Given the description of an element on the screen output the (x, y) to click on. 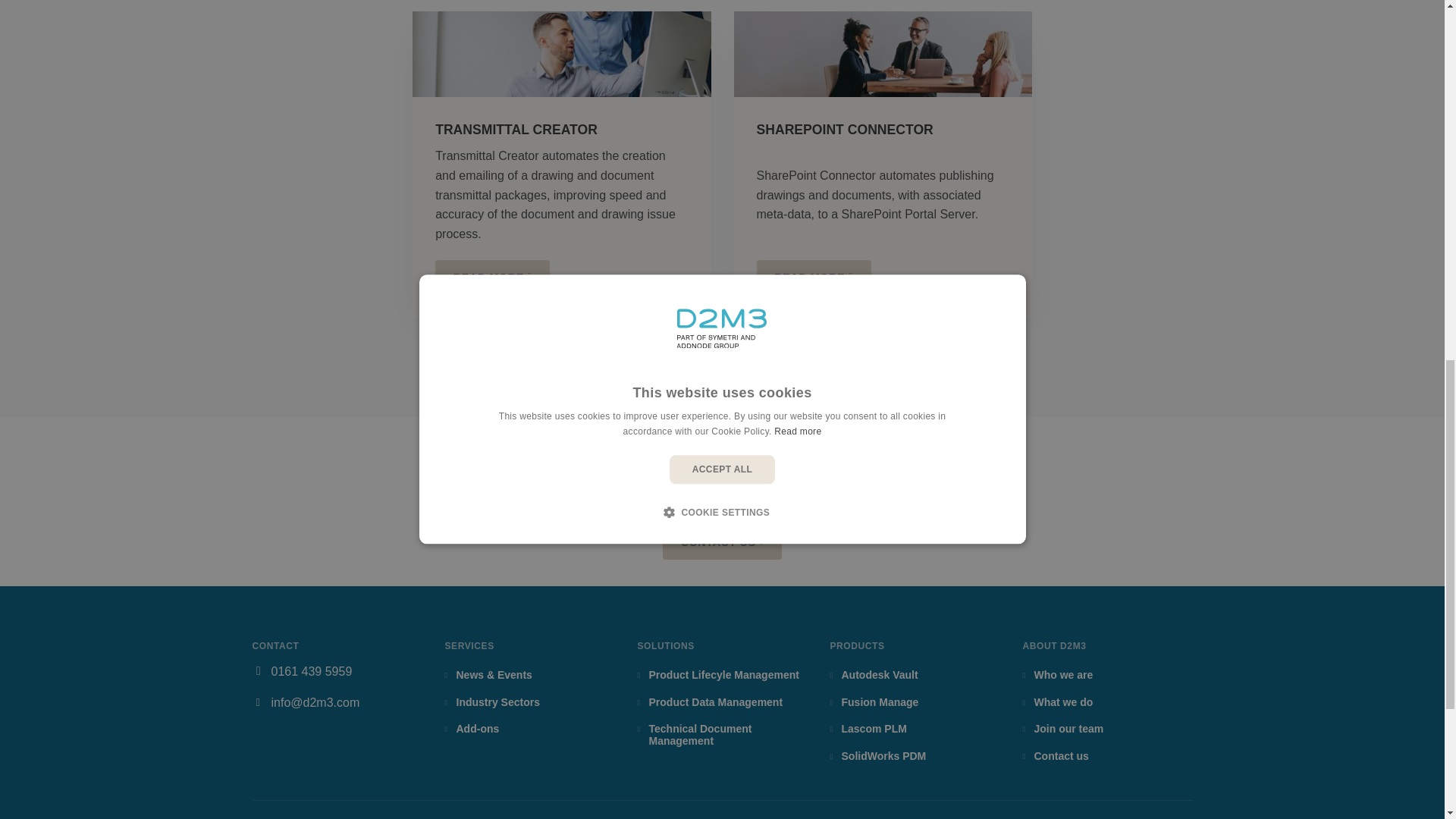
Offices (745, 486)
Contact us (721, 541)
Contact us (607, 486)
